Given the description of an element on the screen output the (x, y) to click on. 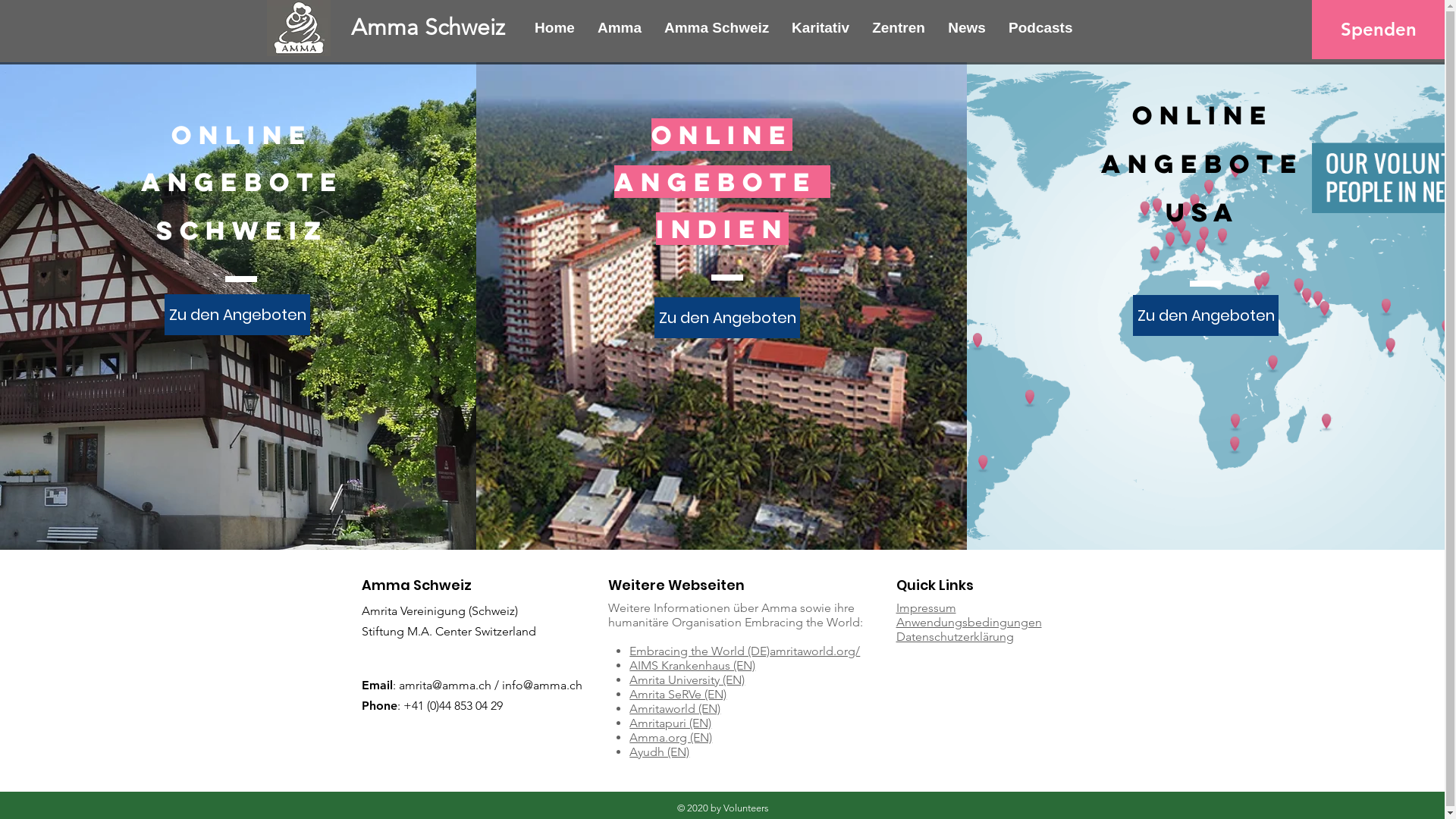
Podcasts Element type: text (1040, 27)
amritaworld.org/ Element type: text (814, 650)
Karitativ Element type: text (820, 27)
info@amma.ch Element type: text (542, 684)
Anwendungsbedingungen Element type: text (968, 622)
Amma Element type: text (619, 27)
Impressum Element type: text (926, 607)
AIMS Krankenhaus (EN) Element type: text (692, 665)
Amritapuri (EN) Element type: text (670, 722)
Zu den Angeboten Element type: text (1205, 314)
Zu den Angeboten Element type: text (237, 314)
amrita@amma.ch Element type: text (444, 684)
Amma.org (EN) Element type: text (670, 737)
Amritaworld (EN) Element type: text (674, 708)
Amrita SeRVe (EN) Element type: text (677, 694)
Embracing the World (DE) Element type: text (699, 650)
Zentren Element type: text (898, 27)
Home Element type: text (554, 27)
Spenden Element type: text (1377, 29)
Zu den Angeboten Element type: text (727, 317)
News Element type: text (966, 27)
Amma Schweiz Element type: text (427, 26)
Ayudh (EN) Element type: text (659, 751)
Amrita University (EN) Element type: text (686, 679)
